Given the description of an element on the screen output the (x, y) to click on. 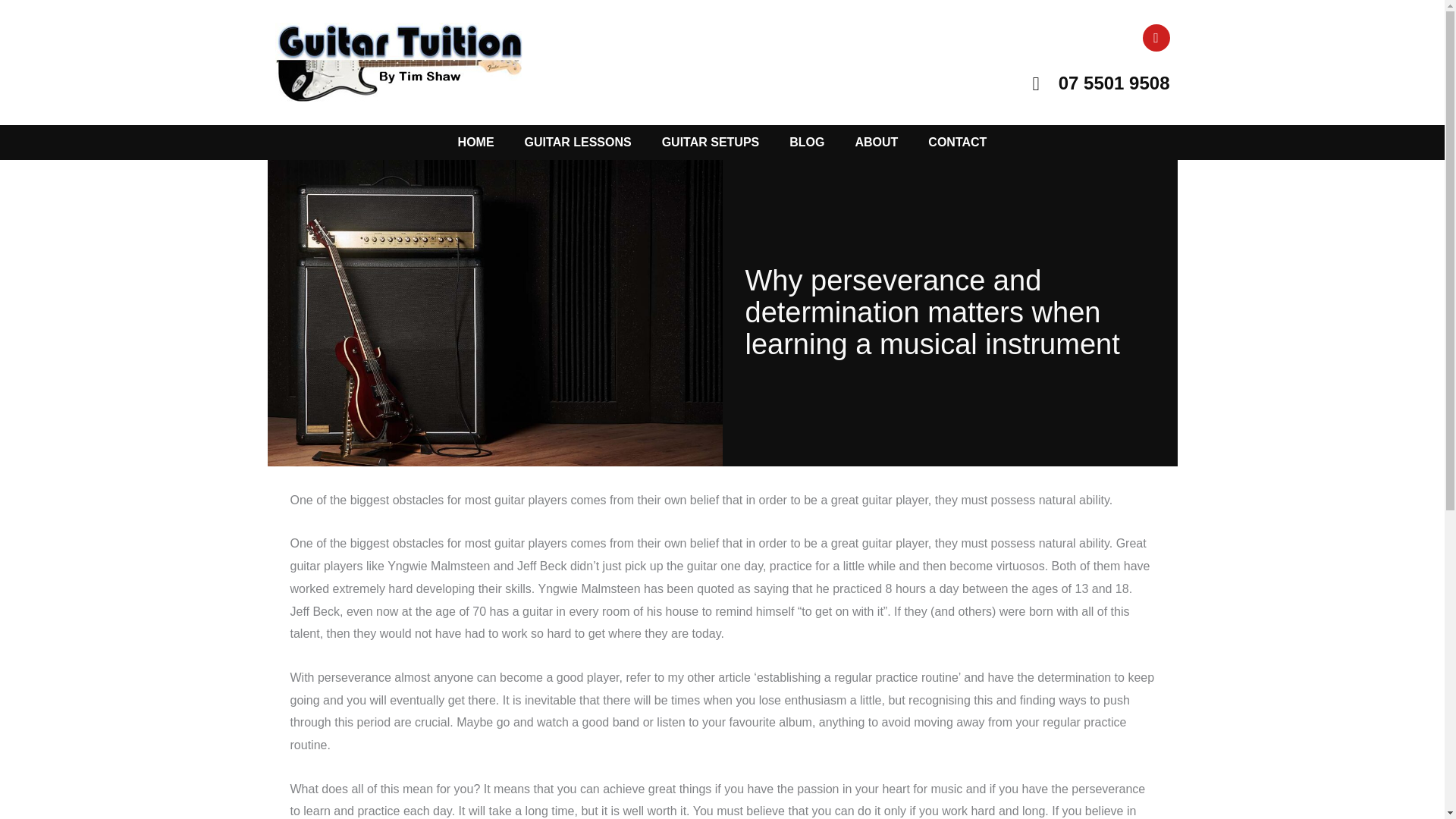
GUITAR LESSONS (577, 142)
BLOG (807, 142)
07 5501 9508 (949, 83)
HOME (475, 142)
GUITAR SETUPS (710, 142)
CONTACT (956, 142)
Youtube (1155, 37)
ABOUT (876, 142)
